Given the description of an element on the screen output the (x, y) to click on. 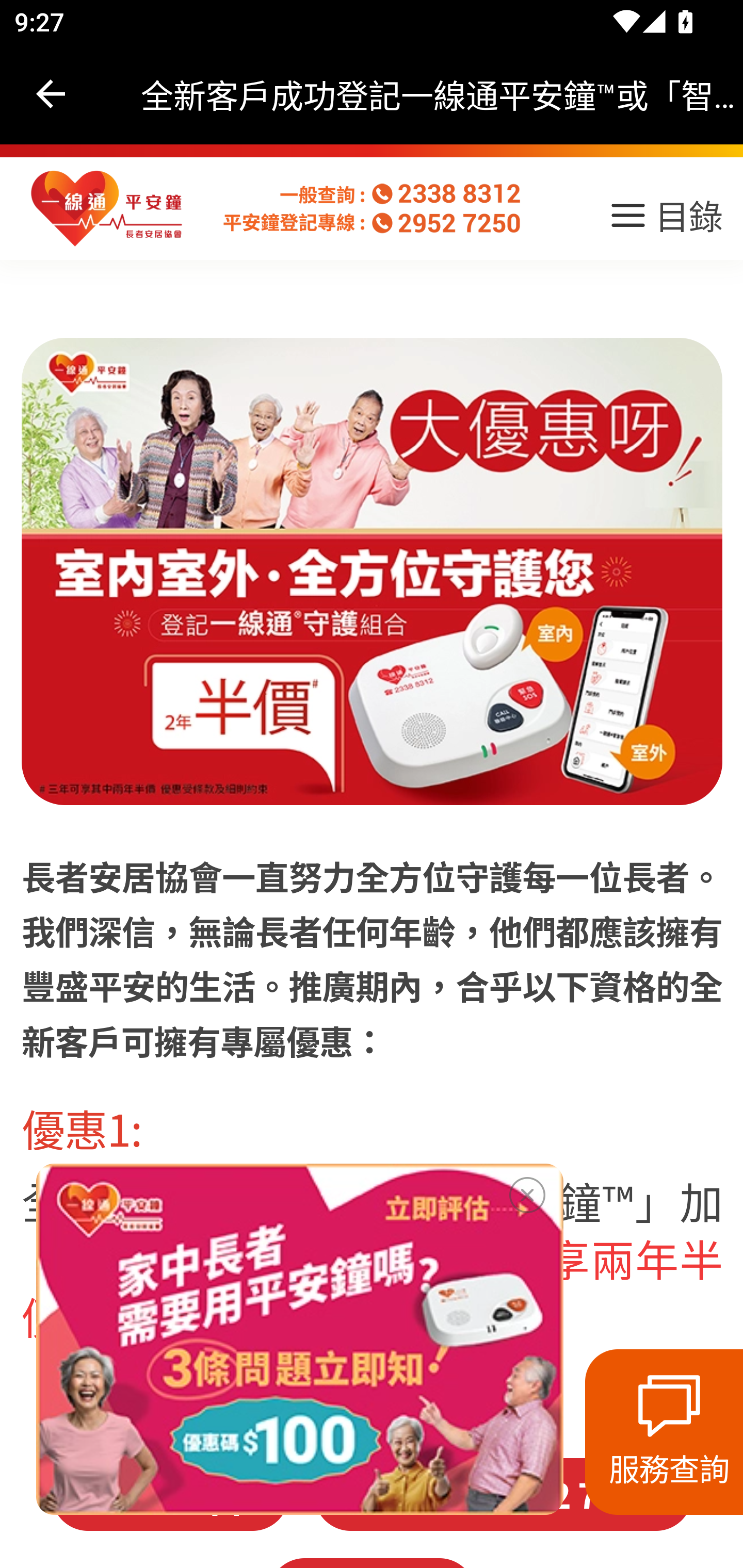
Navigate up (50, 93)
homepage (107, 209)
目錄 (665, 221)
Dec Coupon Code Allsize Popup 300x200 Yescta (299, 1338)
site.close (526, 1191)
服務查詢 (664, 1432)
